Given the description of an element on the screen output the (x, y) to click on. 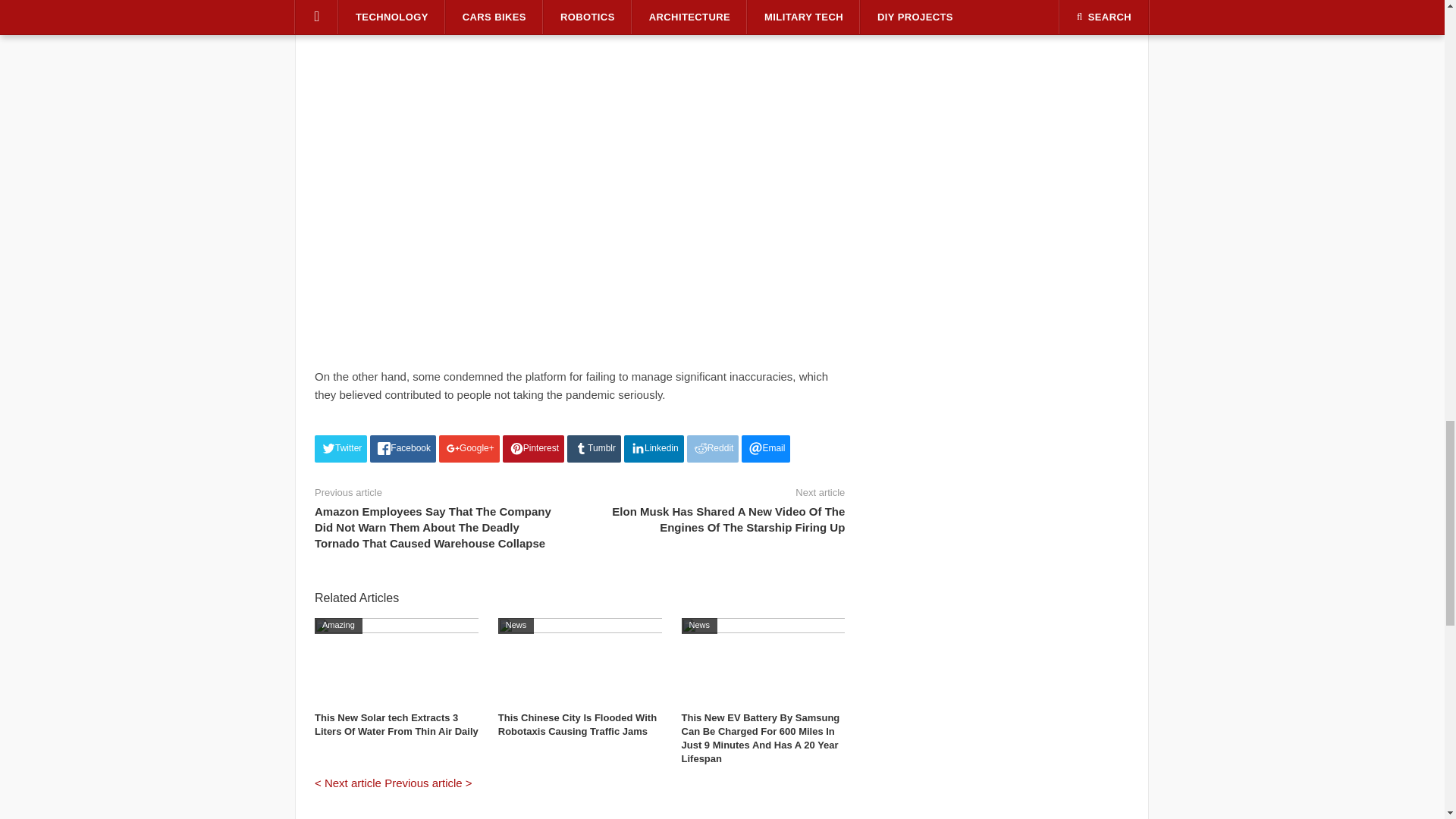
Pinterest (533, 448)
Linkedin (654, 448)
Tumblr (594, 448)
Reddit (713, 448)
Twitter (340, 448)
Facebook (402, 448)
Email (765, 448)
